Given the description of an element on the screen output the (x, y) to click on. 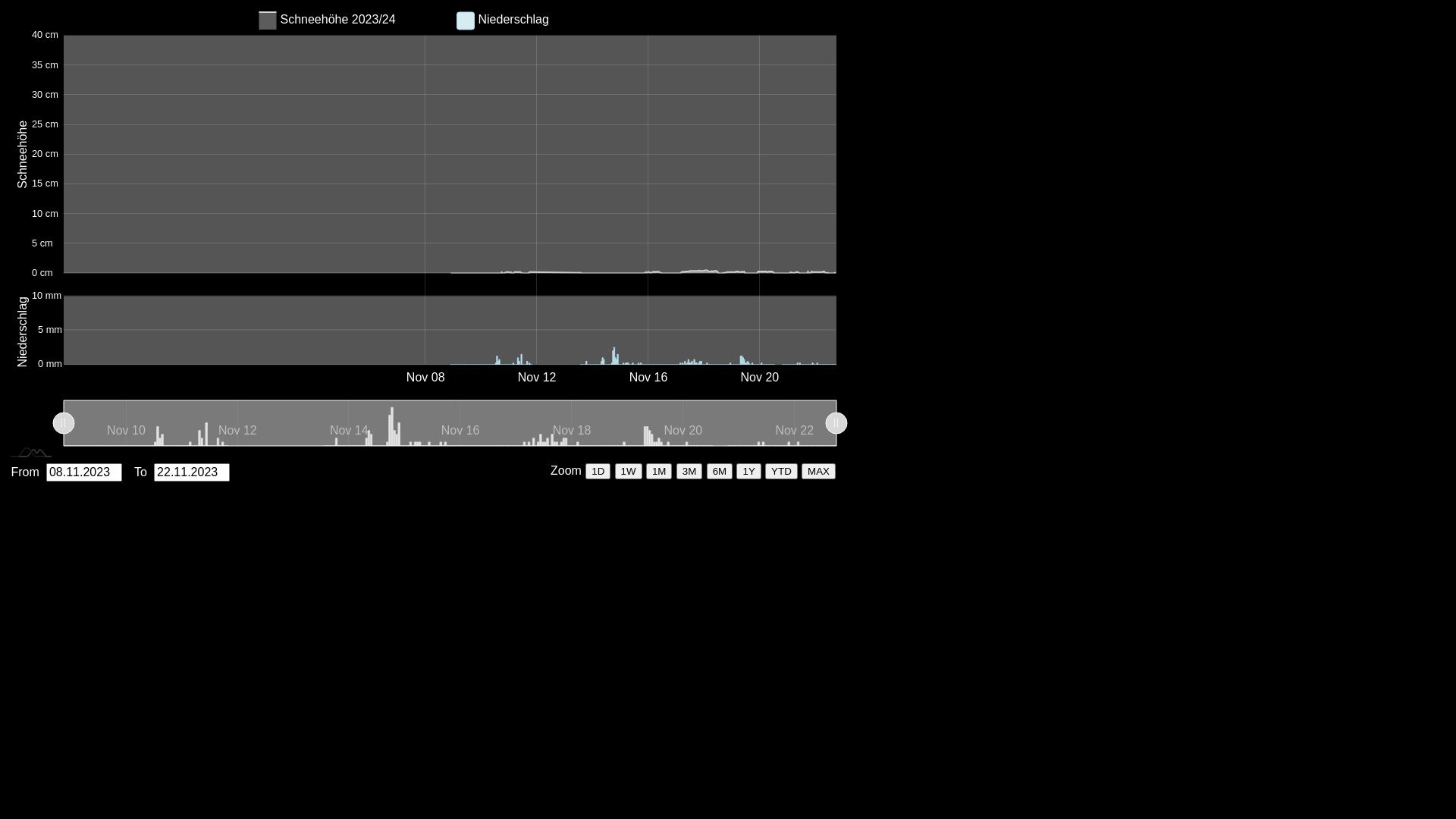
MAX Element type: text (818, 471)
1Y Element type: text (748, 471)
1D Element type: text (597, 471)
1M Element type: text (659, 471)
YTD Element type: text (781, 471)
3M Element type: text (689, 471)
6M Element type: text (719, 471)
1W Element type: text (628, 471)
